Given the description of an element on the screen output the (x, y) to click on. 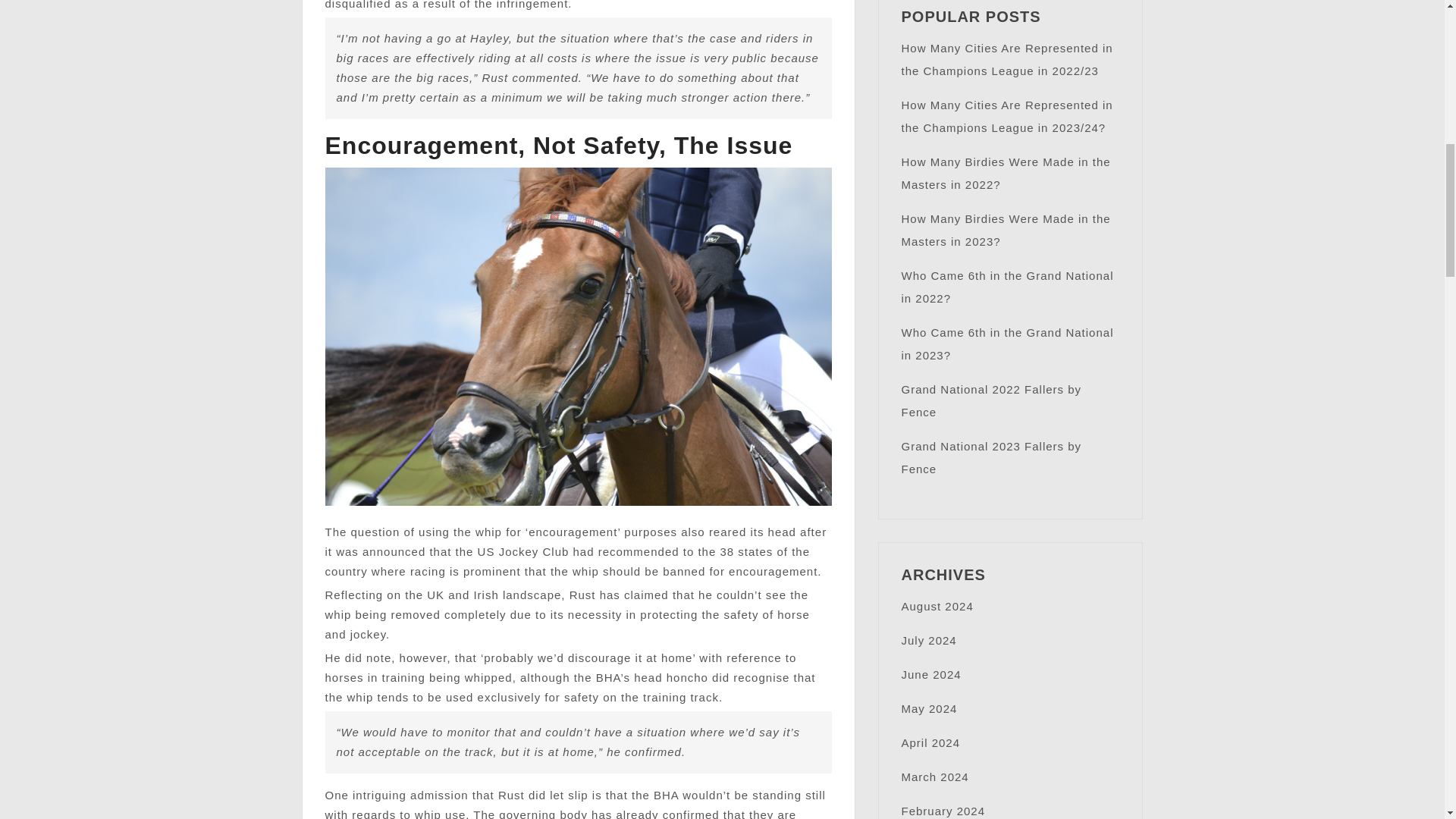
Who Came 6th in the Grand National in 2023? (1007, 343)
February 2024 (943, 810)
How Many Birdies Were Made in the Masters in 2023? (1005, 230)
Who Came 6th in the Grand National in 2022? (1007, 286)
Grand National 2023 Fallers by Fence (991, 457)
July 2024 (928, 640)
August 2024 (936, 605)
Grand National 2022 Fallers by Fence (991, 400)
March 2024 (934, 776)
May 2024 (928, 707)
